Given the description of an element on the screen output the (x, y) to click on. 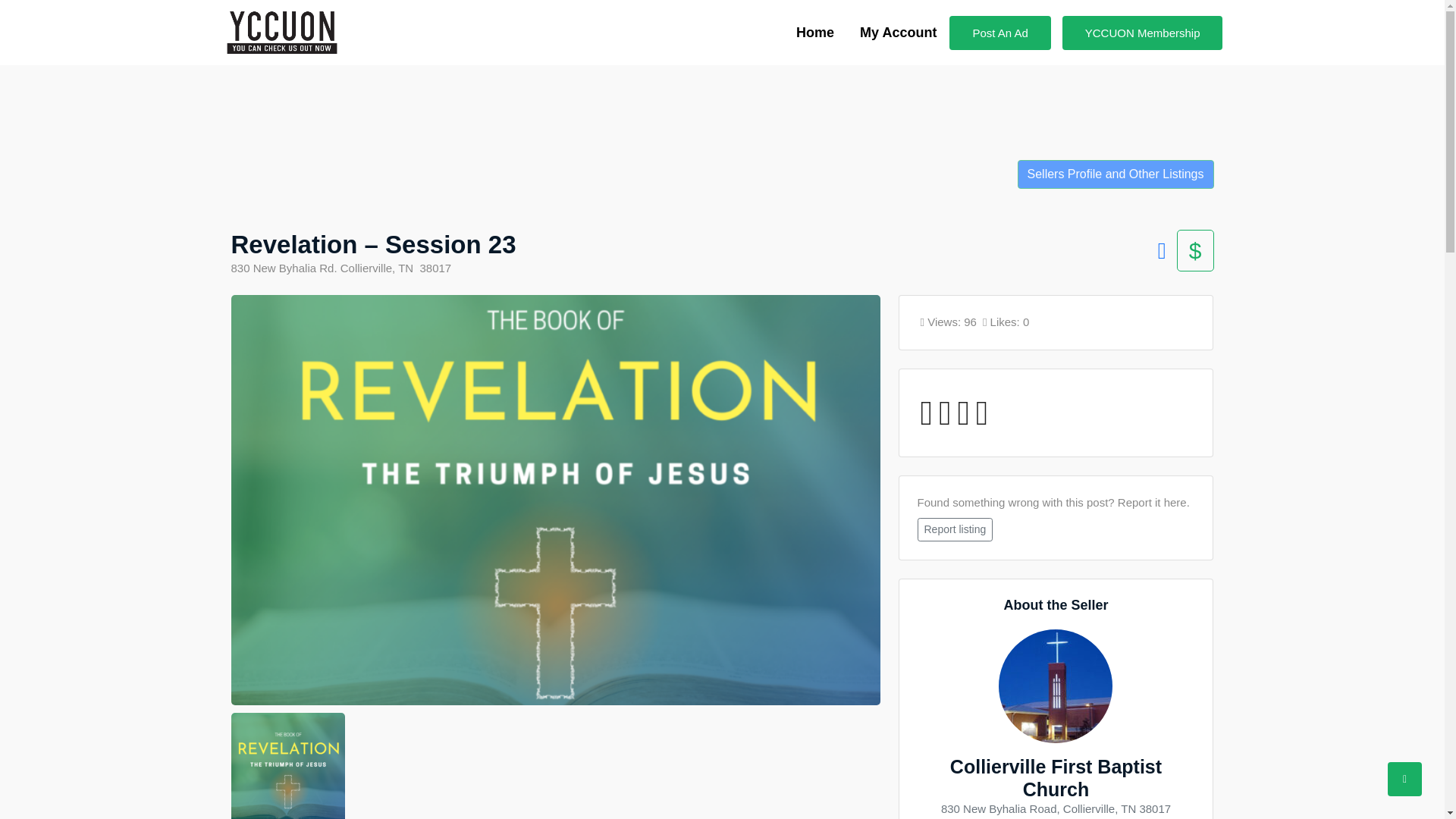
YCCUON Membership (1142, 32)
Home (815, 32)
My Account (898, 32)
Sellers Profile and Other Listings (1115, 174)
Post An Ad (999, 32)
Report listing (954, 529)
